Given the description of an element on the screen output the (x, y) to click on. 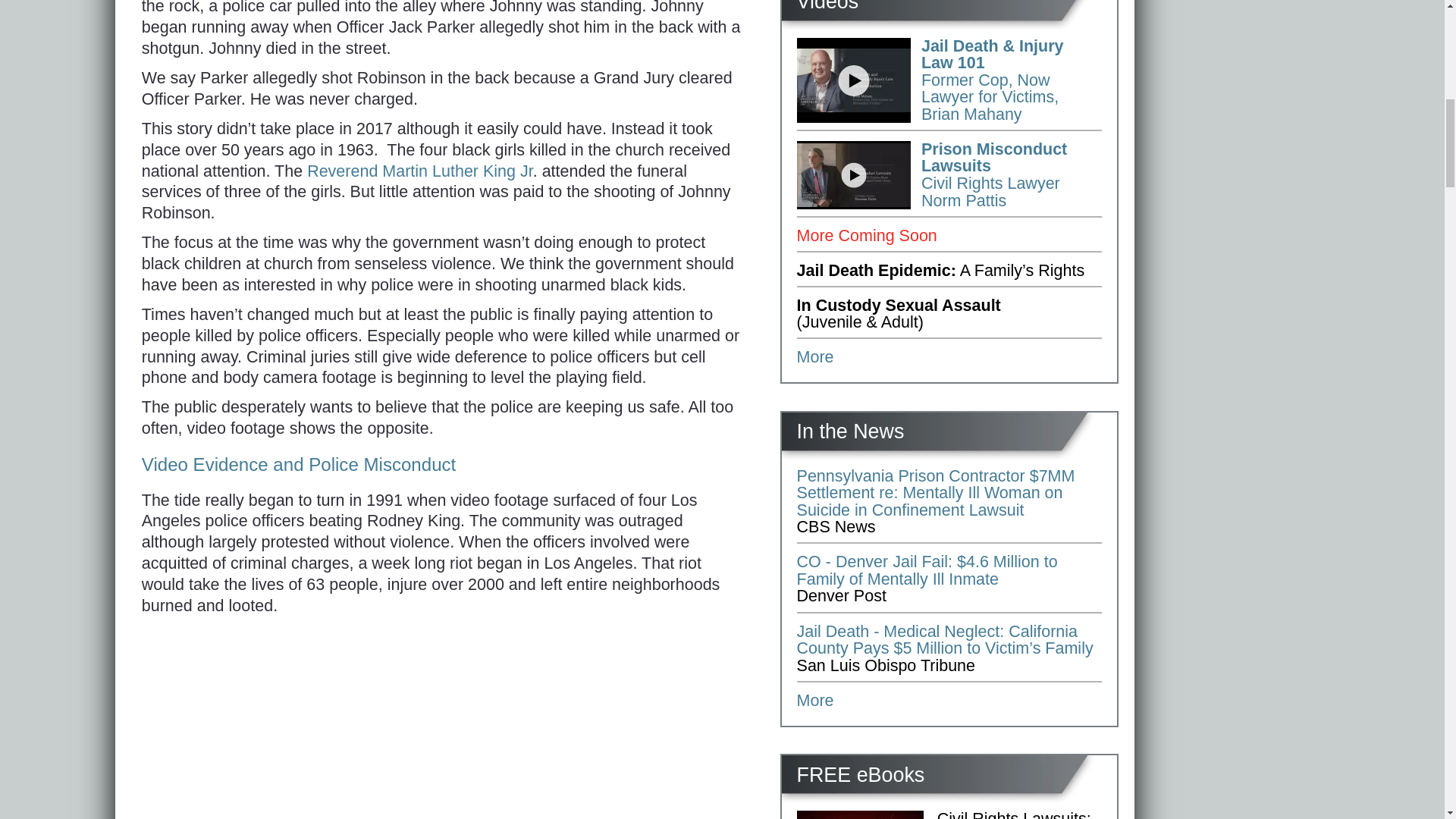
Reverend Martin Luther King Jr (419, 171)
